Given the description of an element on the screen output the (x, y) to click on. 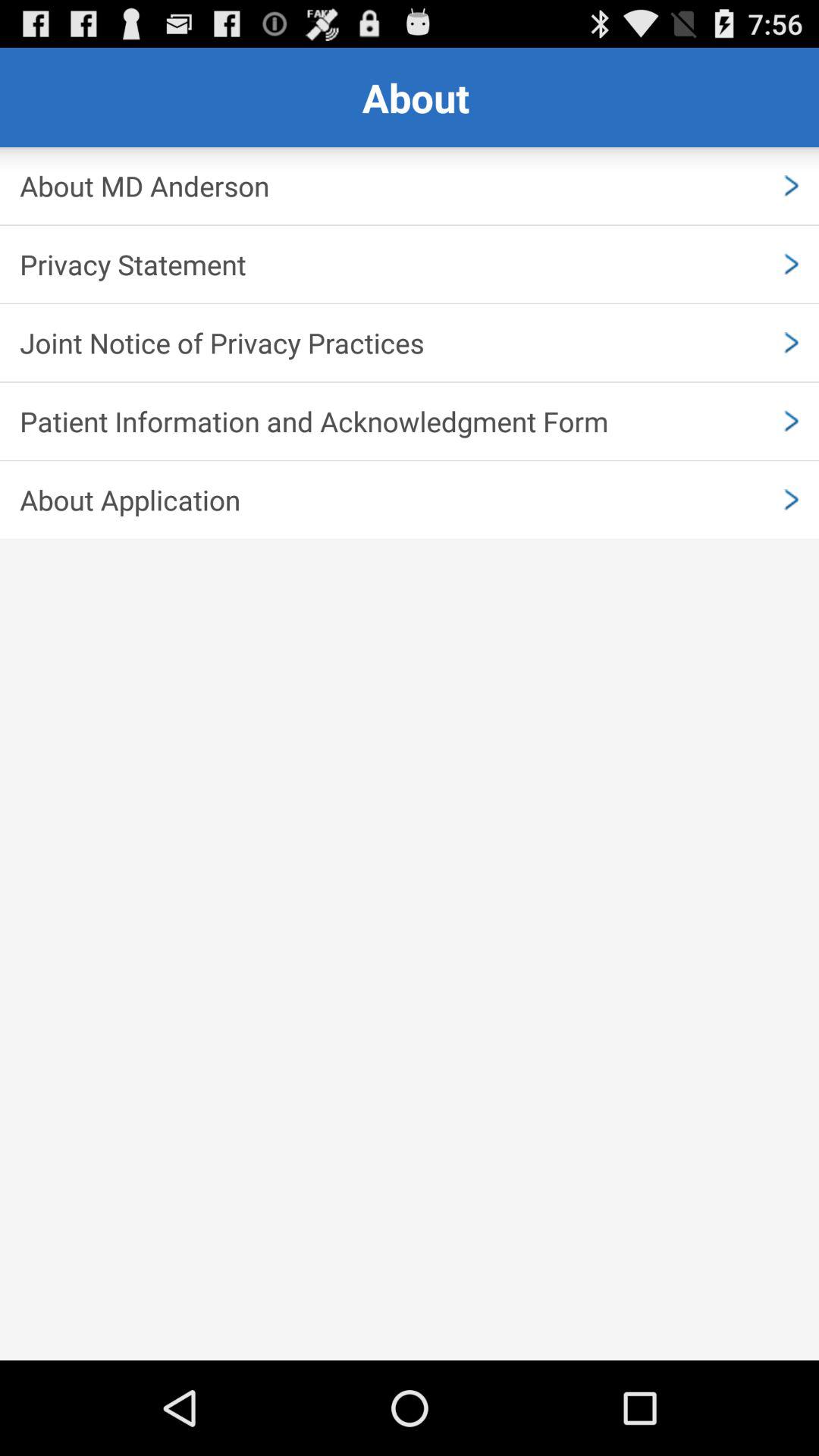
scroll to joint notice of (409, 342)
